Given the description of an element on the screen output the (x, y) to click on. 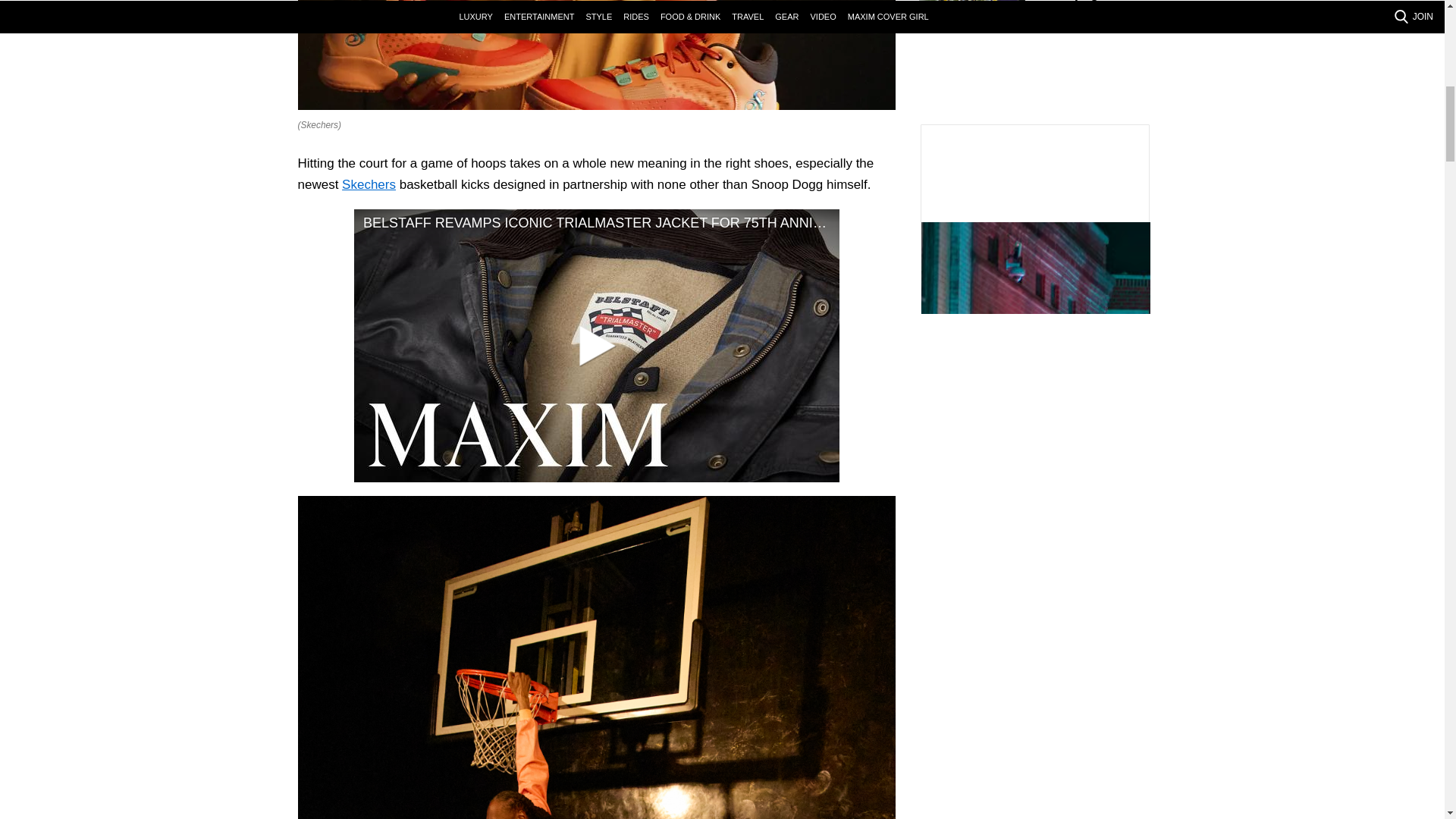
Play Video (596, 345)
Play Video (595, 345)
